Given the description of an element on the screen output the (x, y) to click on. 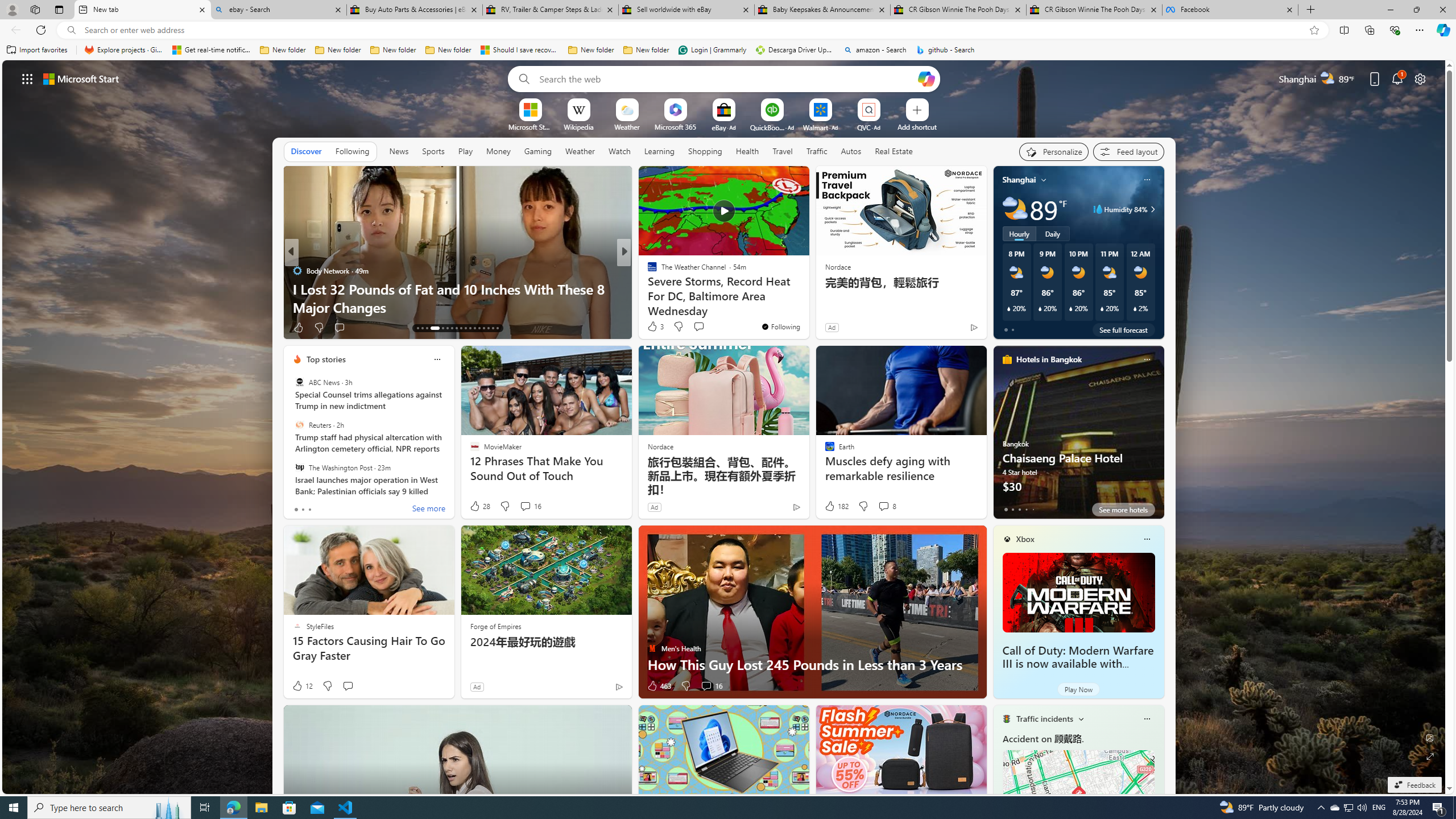
To get missing image descriptions, open the context menu. (529, 109)
More options (1146, 718)
github - Search (945, 49)
AutomationID: tab-25 (478, 328)
Real Estate (893, 151)
Search icon (70, 29)
The Washington Post (299, 466)
See more hotels (1123, 509)
Login | Grammarly (712, 49)
